Given the description of an element on the screen output the (x, y) to click on. 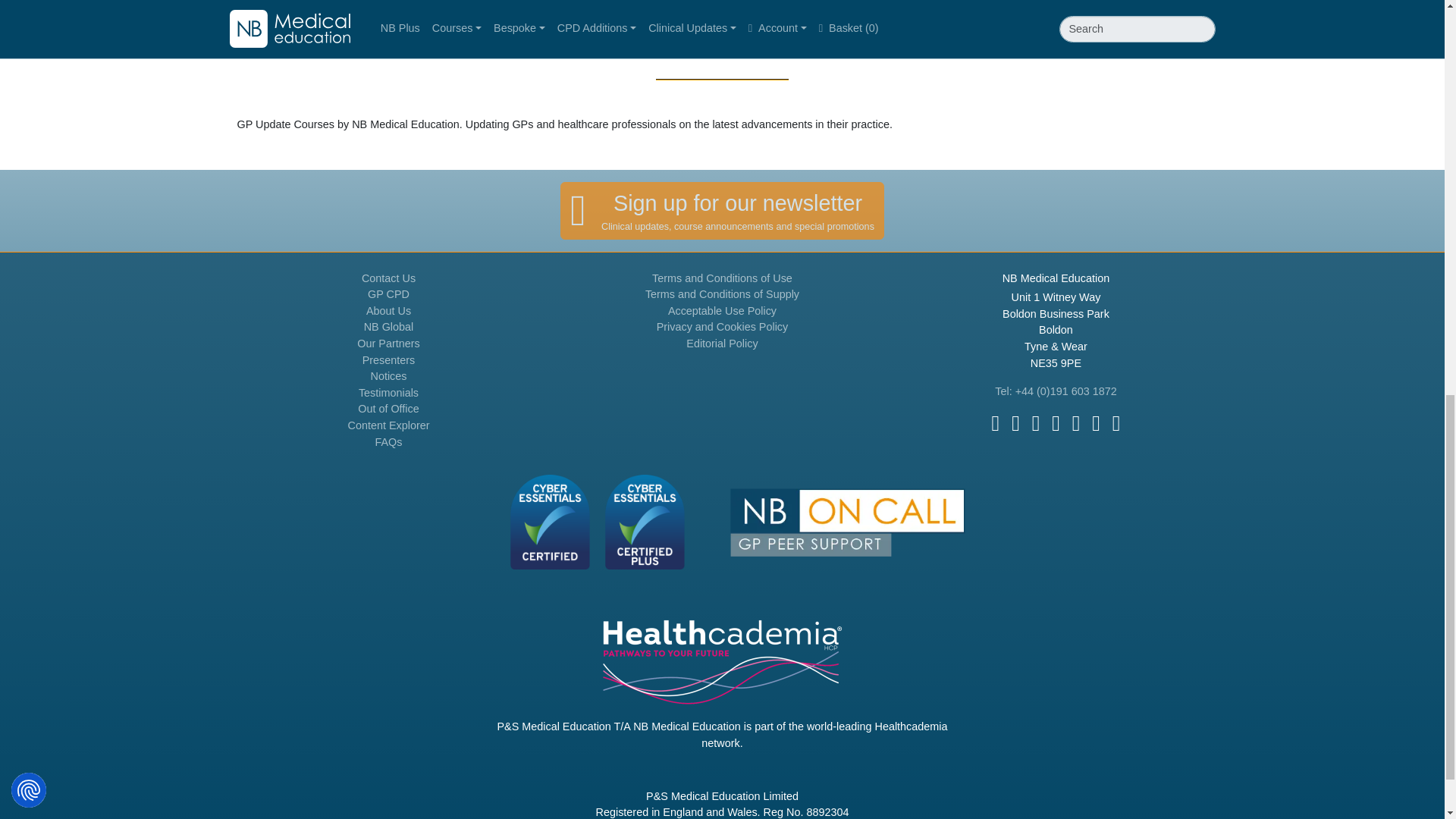
NB Medical Podcasts (1116, 422)
NB Medical YouTube (1036, 422)
NB Medical LinkedIn (1055, 422)
NB Medical Facebook (995, 422)
NB Medical Spotify (1096, 422)
NB Medical Instagram (1075, 422)
